Given the description of an element on the screen output the (x, y) to click on. 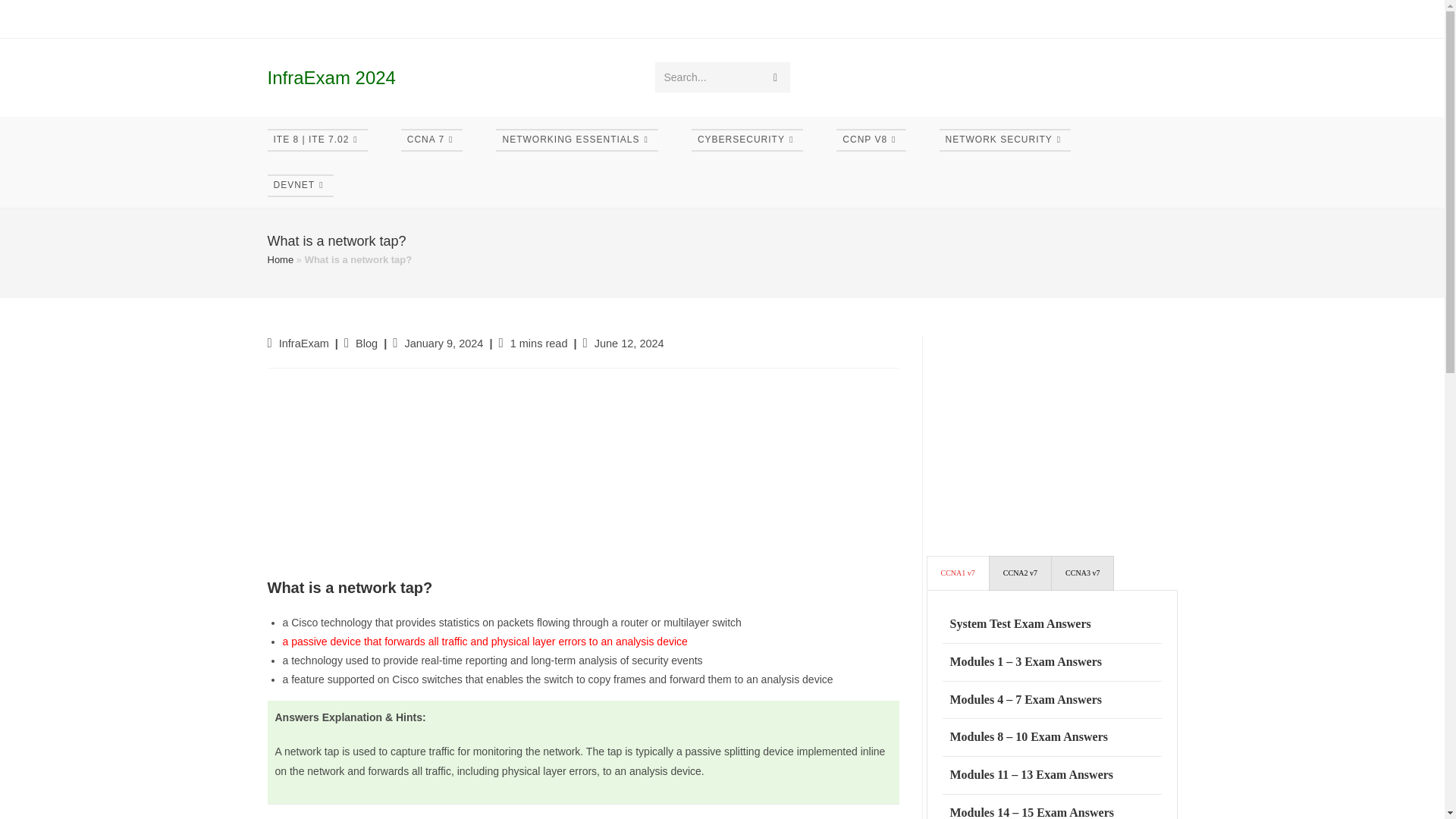
Linux (747, 18)
Programming (813, 18)
English for IT 1 (515, 18)
Ethical Hacker (597, 18)
Submit search (775, 77)
CCNA 7 (432, 139)
About Us (889, 18)
InfraExam 2024 (330, 77)
Posts by InfraExam (304, 343)
Home (280, 18)
